Given the description of an element on the screen output the (x, y) to click on. 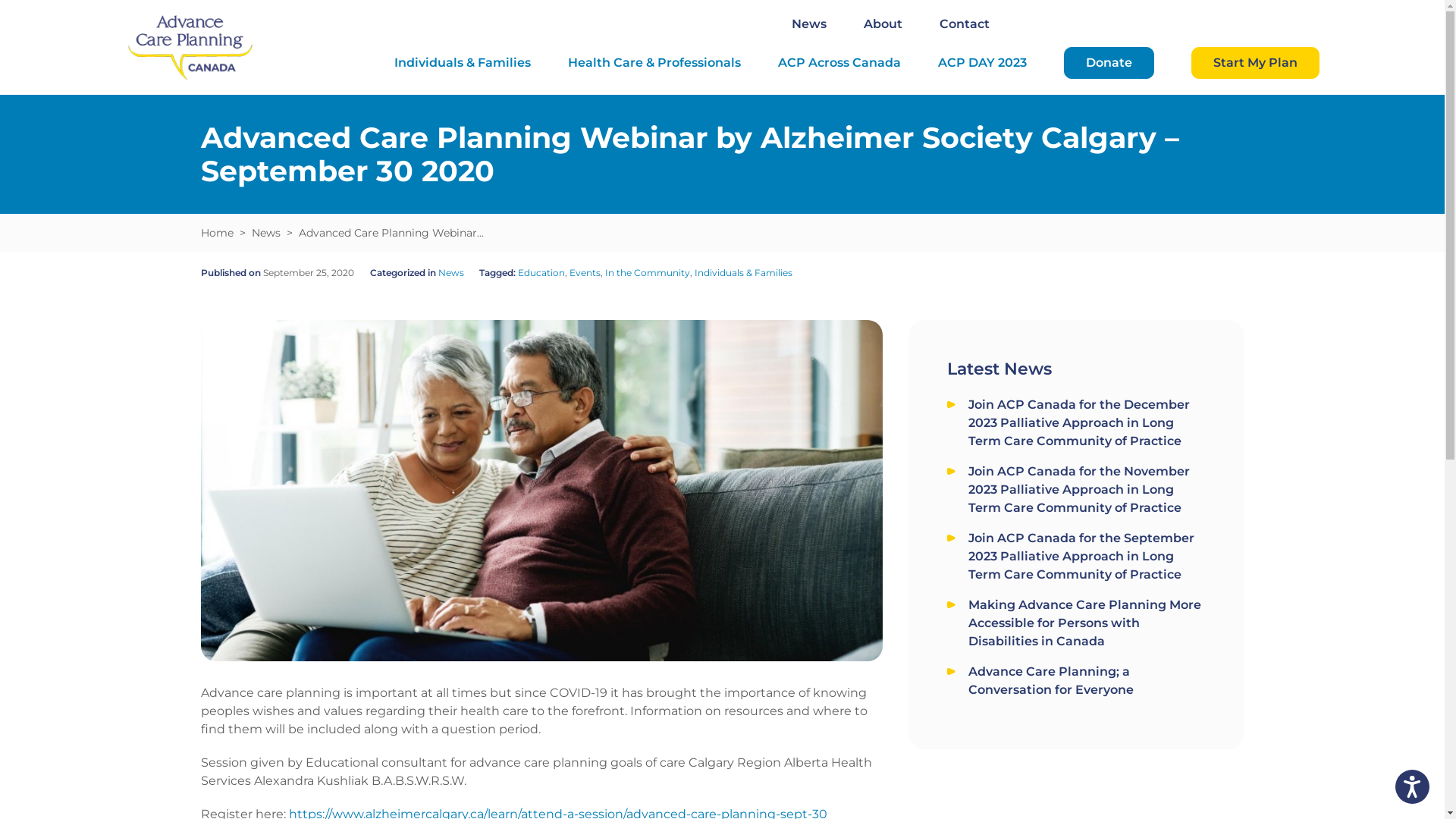
Health Care & Professionals Element type: text (653, 62)
About Element type: text (882, 24)
News Element type: text (451, 272)
Home Element type: text (216, 232)
News Element type: text (808, 24)
News Element type: text (265, 232)
Events Element type: text (584, 272)
Start My Plan Element type: text (1255, 62)
In the Community Element type: text (647, 272)
Advanced Care Planning Webinar... Element type: text (390, 232)
Education Element type: text (540, 272)
Individuals & Families Element type: text (462, 62)
ACP Across Canada Element type: text (839, 62)
Contact Element type: text (964, 24)
Advance Care Planning; a Conversation for Everyone Element type: text (1086, 680)
ACP DAY 2023 Element type: text (982, 62)
Individuals & Families Element type: text (743, 272)
Donate Element type: text (1108, 62)
